Given the description of an element on the screen output the (x, y) to click on. 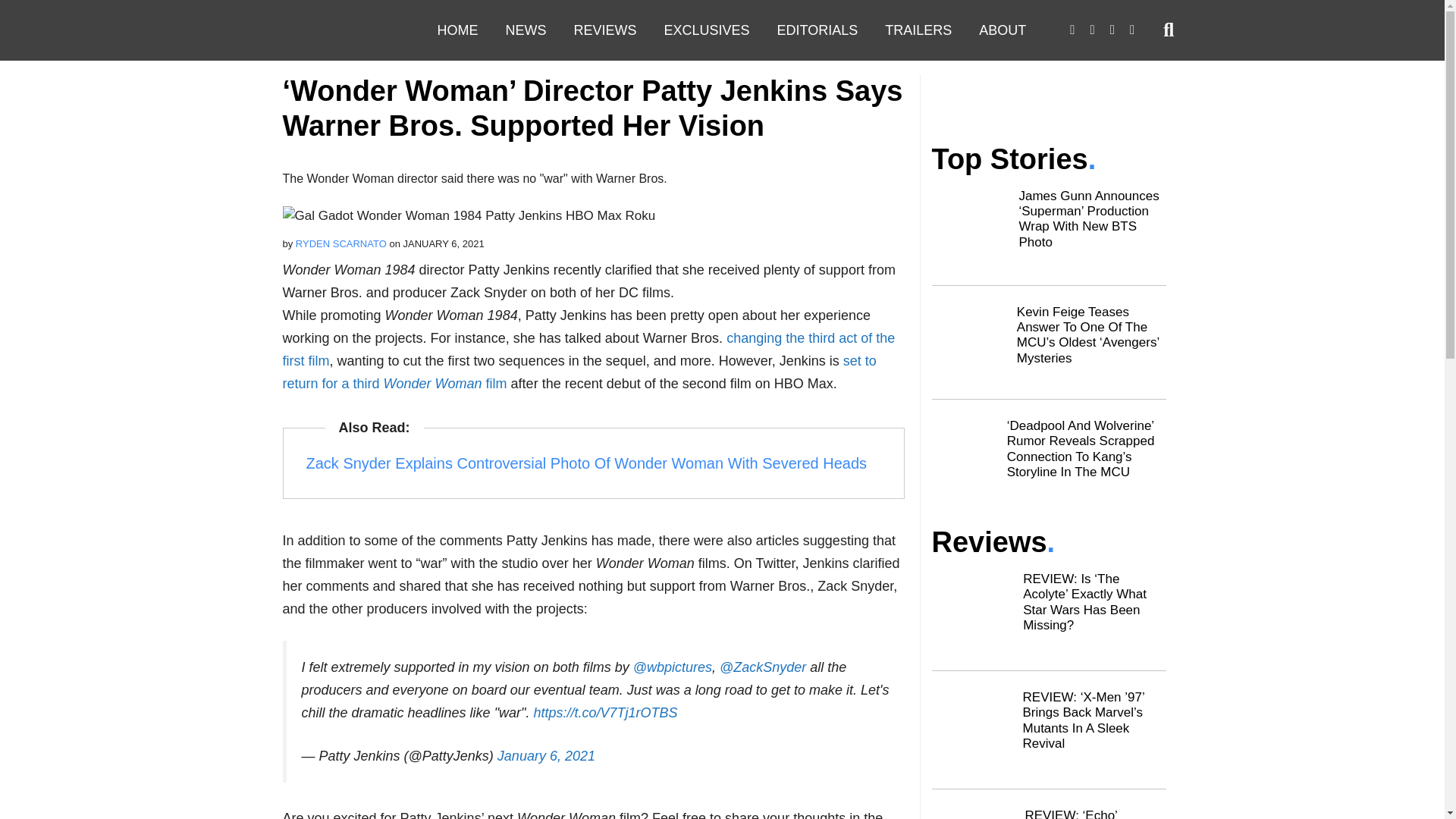
EXCLUSIVES (706, 30)
ABOUT (1002, 30)
EDITORIALS (817, 30)
TRAILERS (917, 30)
2021-01-06 (443, 555)
NEWS (525, 30)
HOME (457, 30)
REVIEWS (604, 30)
